Given the description of an element on the screen output the (x, y) to click on. 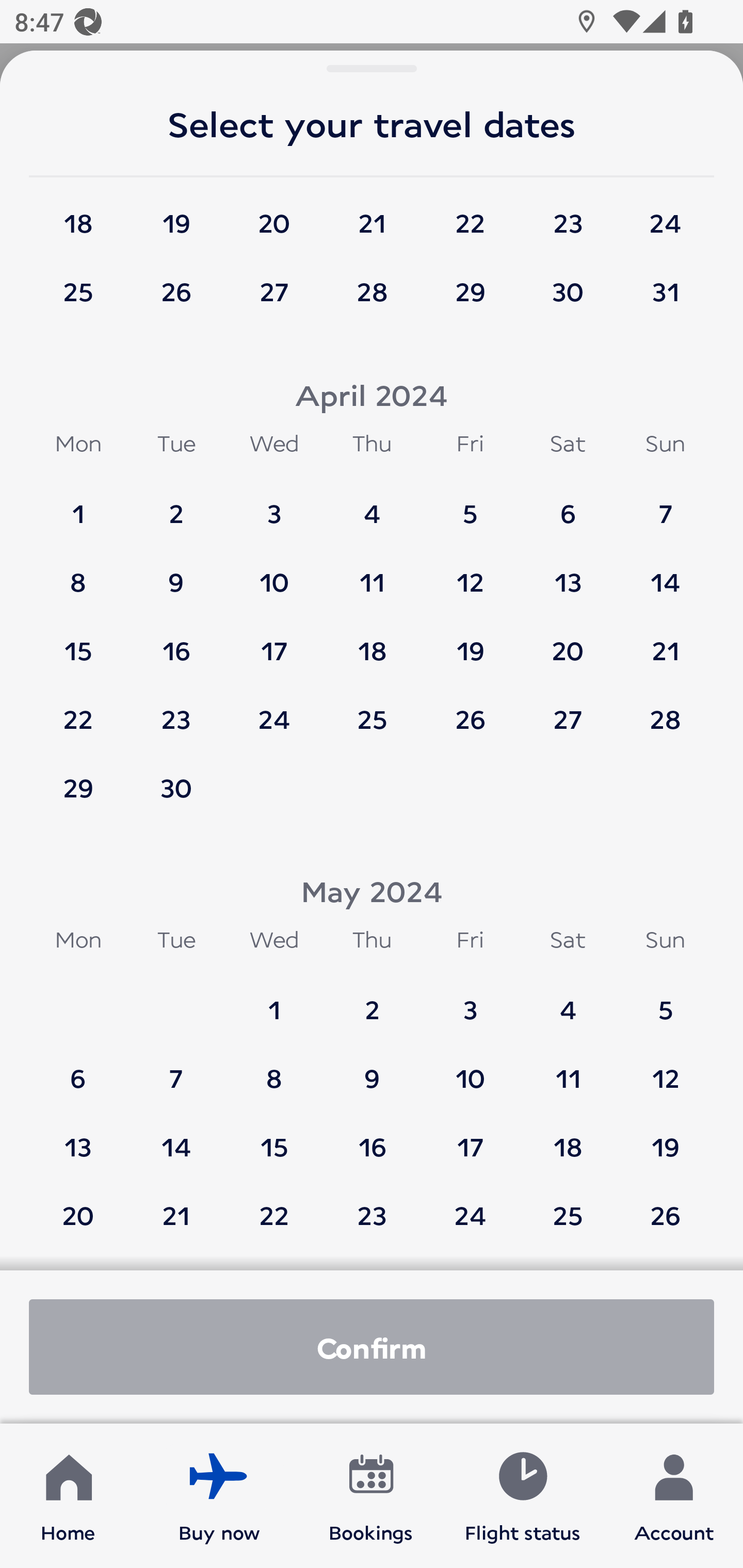
18 (77, 212)
19 (176, 212)
20 (274, 212)
21 (372, 212)
22 (470, 212)
23 (567, 212)
24 (665, 212)
25 (77, 290)
26 (176, 290)
27 (274, 290)
28 (372, 290)
29 (470, 290)
30 (567, 290)
31 (665, 290)
1 (77, 503)
2 (176, 503)
3 (274, 503)
4 (372, 503)
5 (470, 503)
6 (567, 503)
7 (665, 503)
8 (77, 571)
9 (176, 571)
10 (274, 571)
11 (372, 571)
12 (470, 571)
13 (567, 571)
14 (665, 571)
15 (77, 640)
16 (176, 640)
17 (274, 640)
18 (372, 640)
19 (470, 640)
20 (567, 640)
21 (665, 640)
22 (77, 709)
23 (176, 709)
24 (274, 709)
25 (372, 709)
26 (470, 709)
27 (567, 709)
28 (665, 709)
29 (77, 787)
30 (176, 787)
1 (274, 999)
2 (372, 999)
3 (470, 999)
4 (567, 999)
5 (665, 999)
6 (77, 1068)
7 (176, 1068)
8 (274, 1068)
9 (372, 1068)
10 (470, 1068)
11 (567, 1068)
12 (665, 1068)
13 (77, 1137)
14 (176, 1137)
15 (274, 1137)
16 (372, 1137)
17 (470, 1137)
18 (567, 1137)
19 (665, 1137)
20 (77, 1205)
21 (176, 1205)
22 (274, 1205)
23 (372, 1205)
24 (470, 1205)
25 (567, 1205)
26 (665, 1205)
Confirm (371, 1346)
Home (68, 1495)
Bookings (370, 1495)
Flight status (522, 1495)
Account (674, 1495)
